Given the description of an element on the screen output the (x, y) to click on. 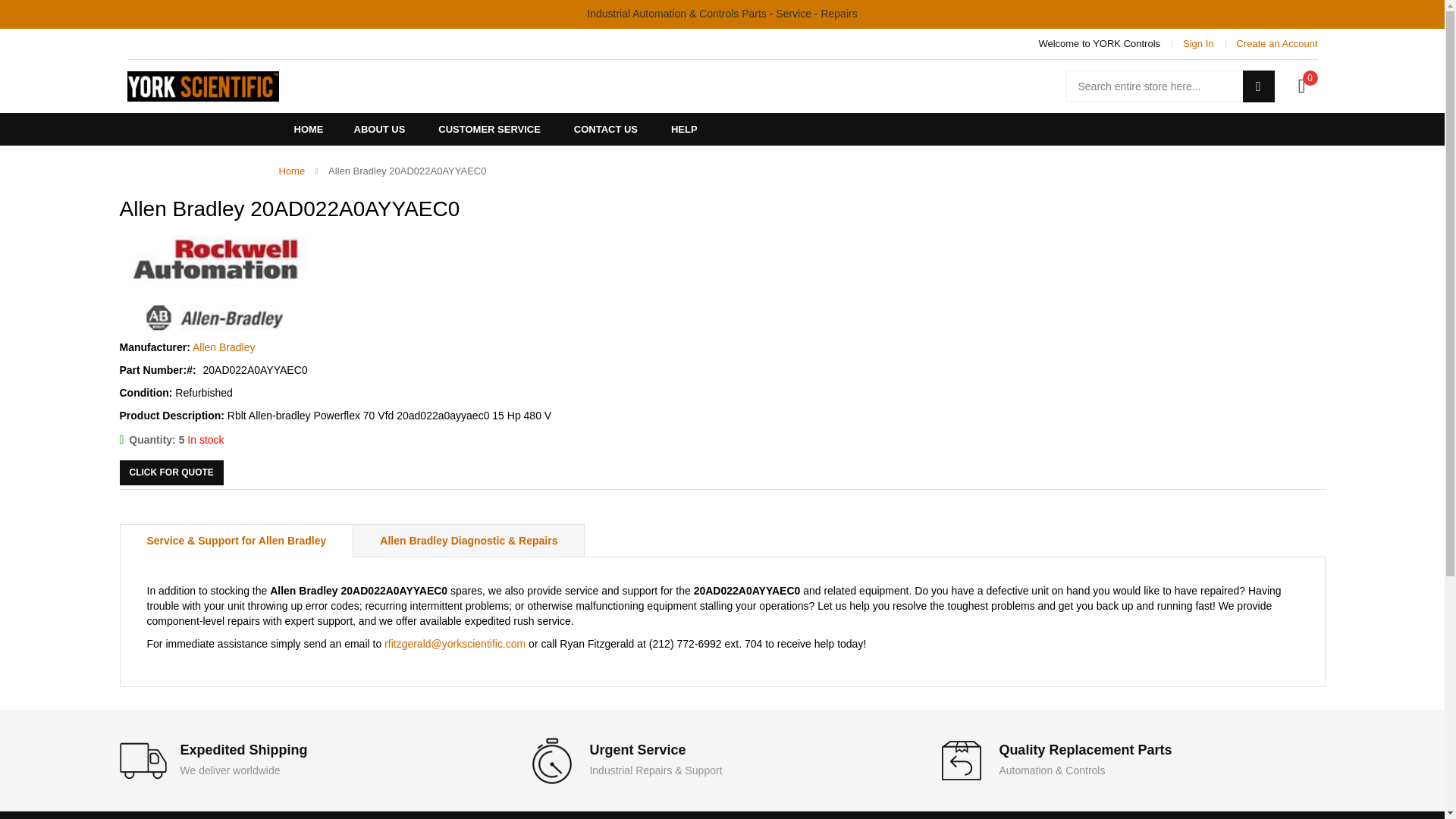
CUSTOMER SERVICE (489, 129)
Sign In (1197, 43)
HELP (684, 129)
Create an Account (1276, 43)
ABOUT US (378, 129)
CONTACT US (605, 129)
Allen Bradley (224, 346)
Allen Bradley (213, 283)
Home (292, 170)
Go to Home Page (292, 170)
0 (1301, 86)
Availability (171, 439)
Search (1257, 86)
Search (1257, 86)
HOME (309, 129)
